Given the description of an element on the screen output the (x, y) to click on. 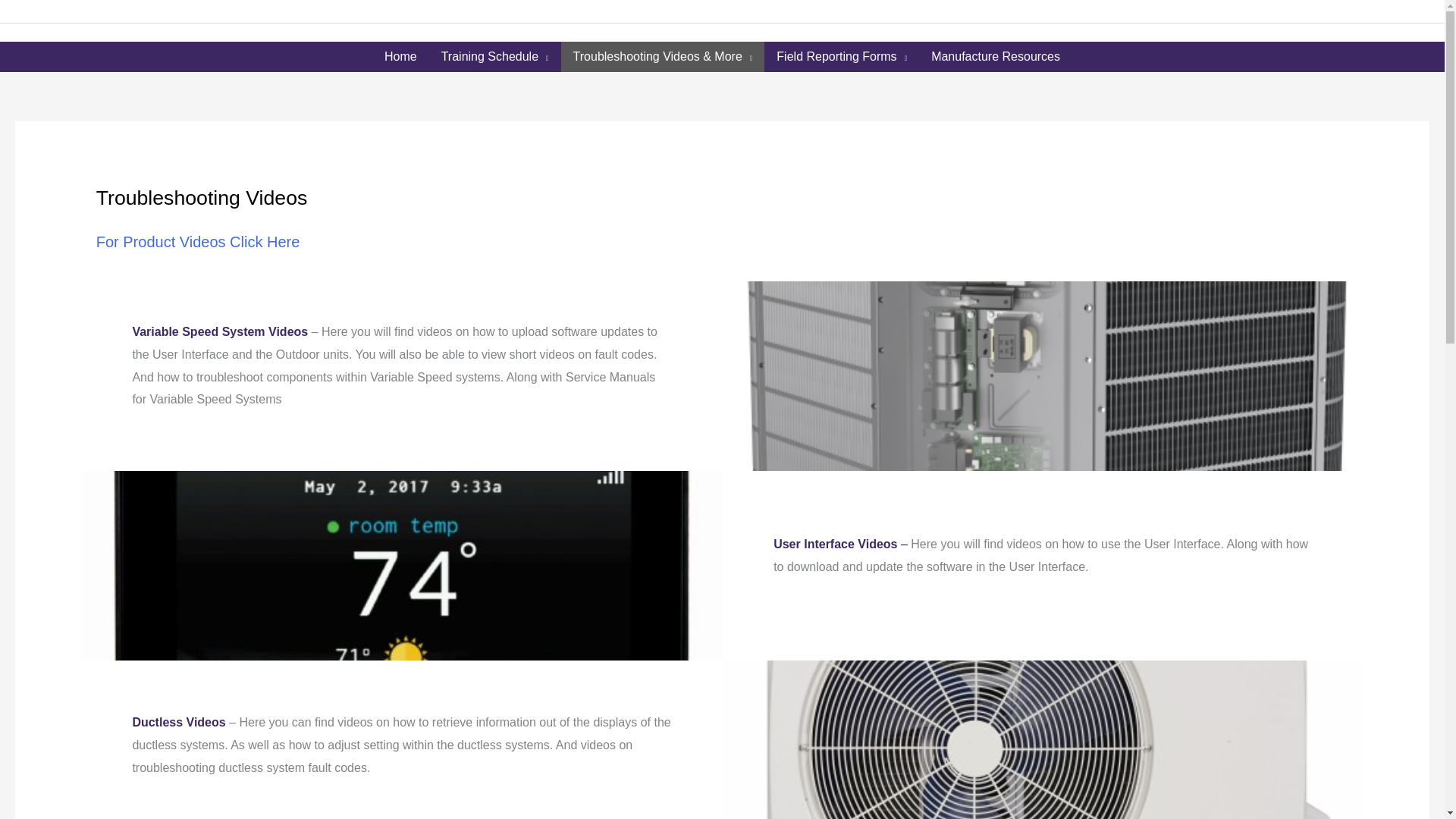
Search (1429, 32)
Field Reporting Forms (841, 56)
Training Schedule (494, 56)
Manufacture Resources (994, 56)
Register (1262, 11)
Home (400, 56)
Login (1331, 11)
Contact Us (1403, 11)
